Given the description of an element on the screen output the (x, y) to click on. 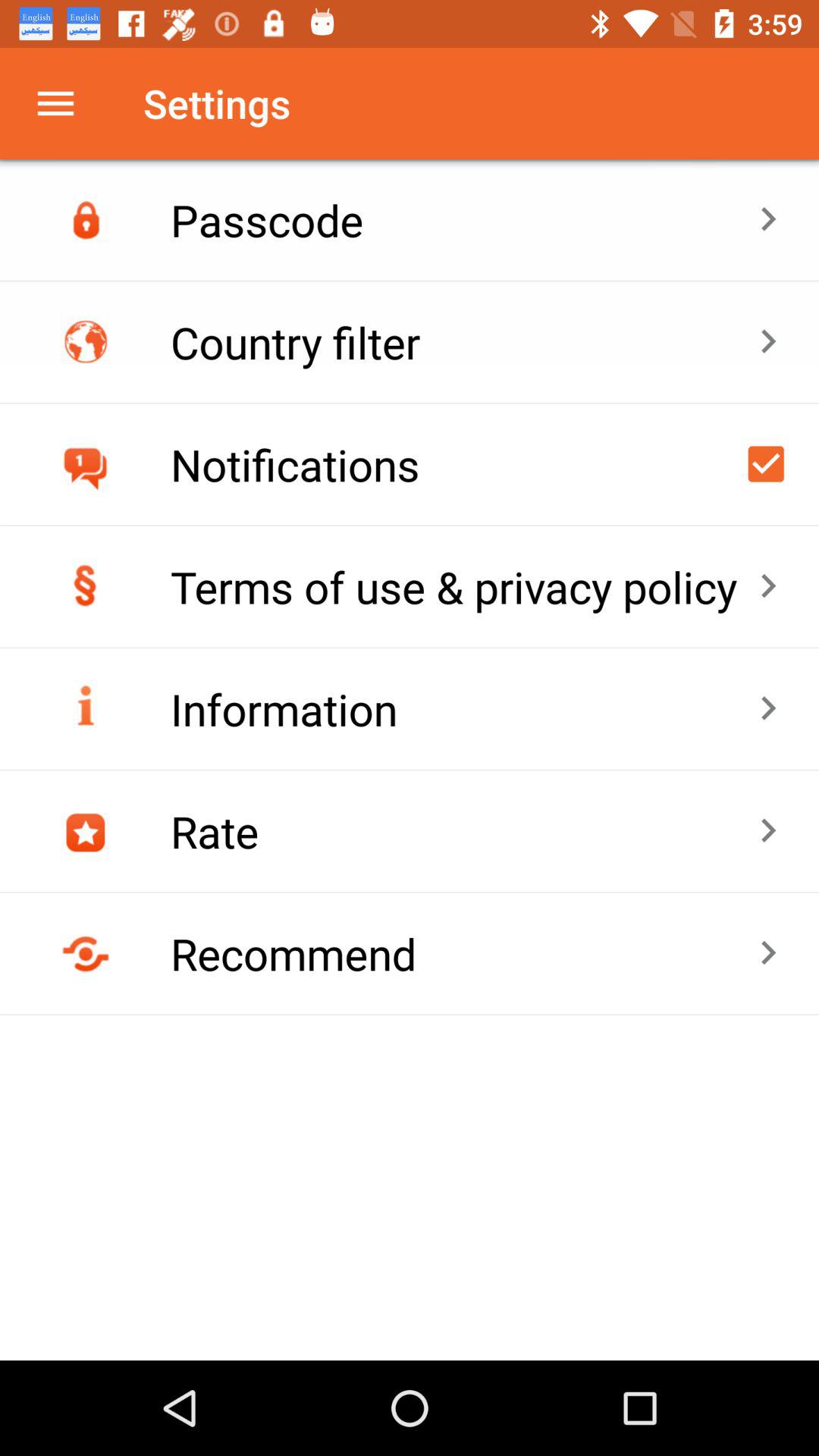
turn on item below the information item (464, 830)
